Given the description of an element on the screen output the (x, y) to click on. 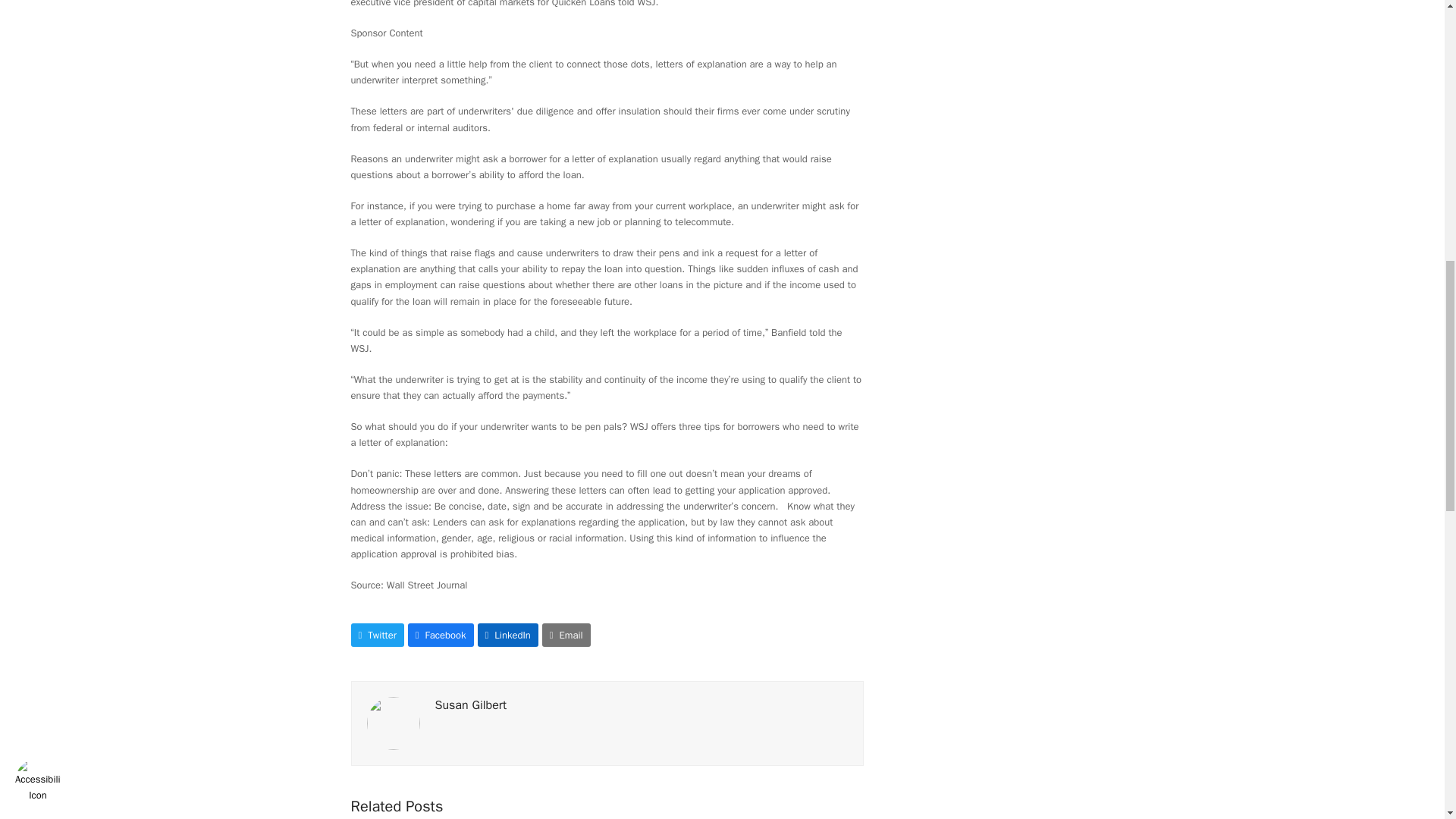
Visit Author Page (393, 722)
Email (566, 635)
Facebook (440, 635)
LinkedIn (507, 635)
Visit Author Page (470, 704)
Twitter (376, 635)
Susan Gilbert (470, 704)
